Given the description of an element on the screen output the (x, y) to click on. 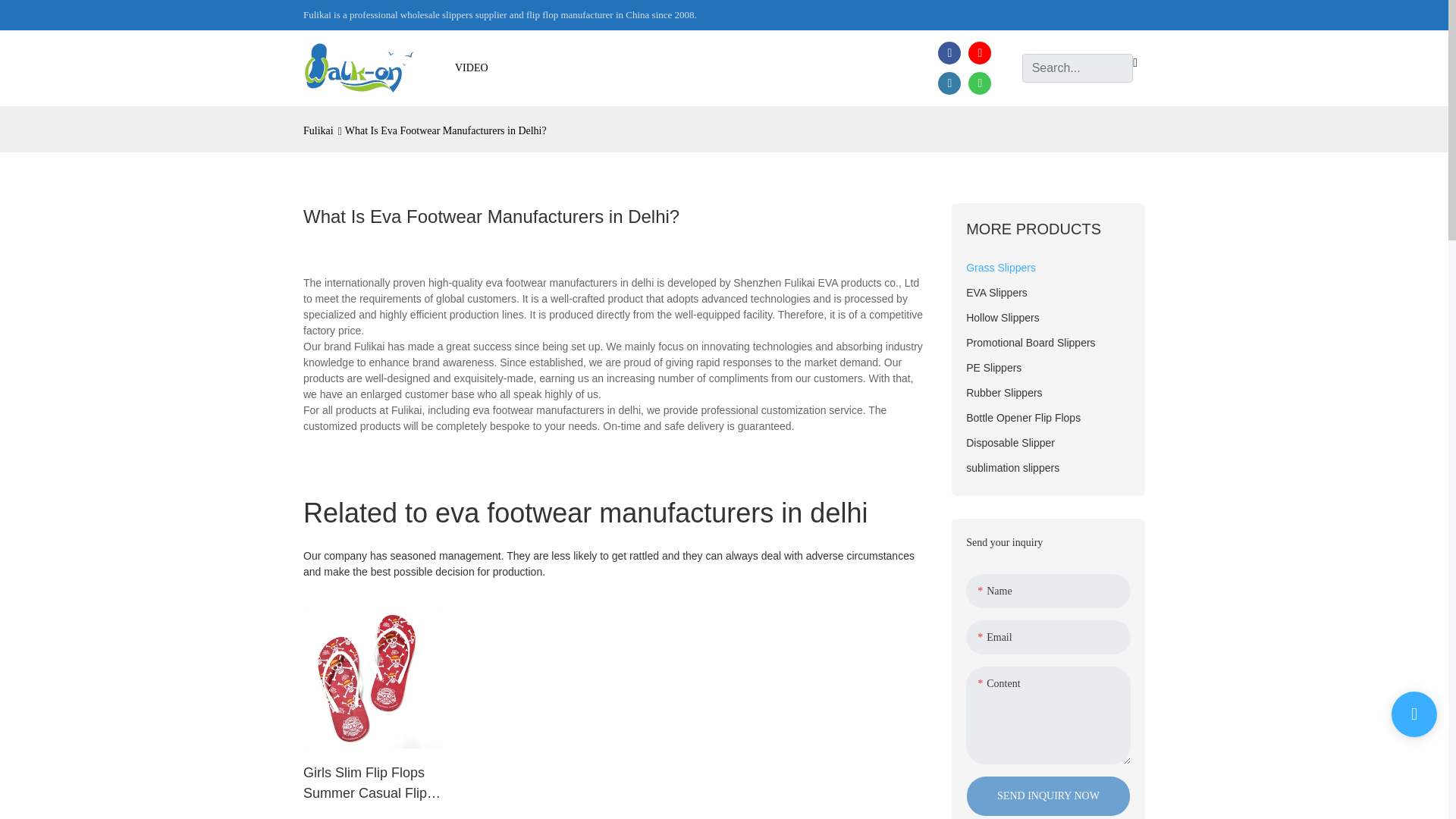
SEND INQUIRY NOW (1047, 795)
Fulikai (319, 130)
Grass Slippers (1048, 267)
EVA Slippers (1048, 292)
Rubber Slippers (1048, 392)
sublimation slippers (1048, 467)
Disposable Slipper (1048, 442)
Disposable Slipper (1048, 442)
VIDEO (470, 67)
PE Slippers (1048, 367)
